Given the description of an element on the screen output the (x, y) to click on. 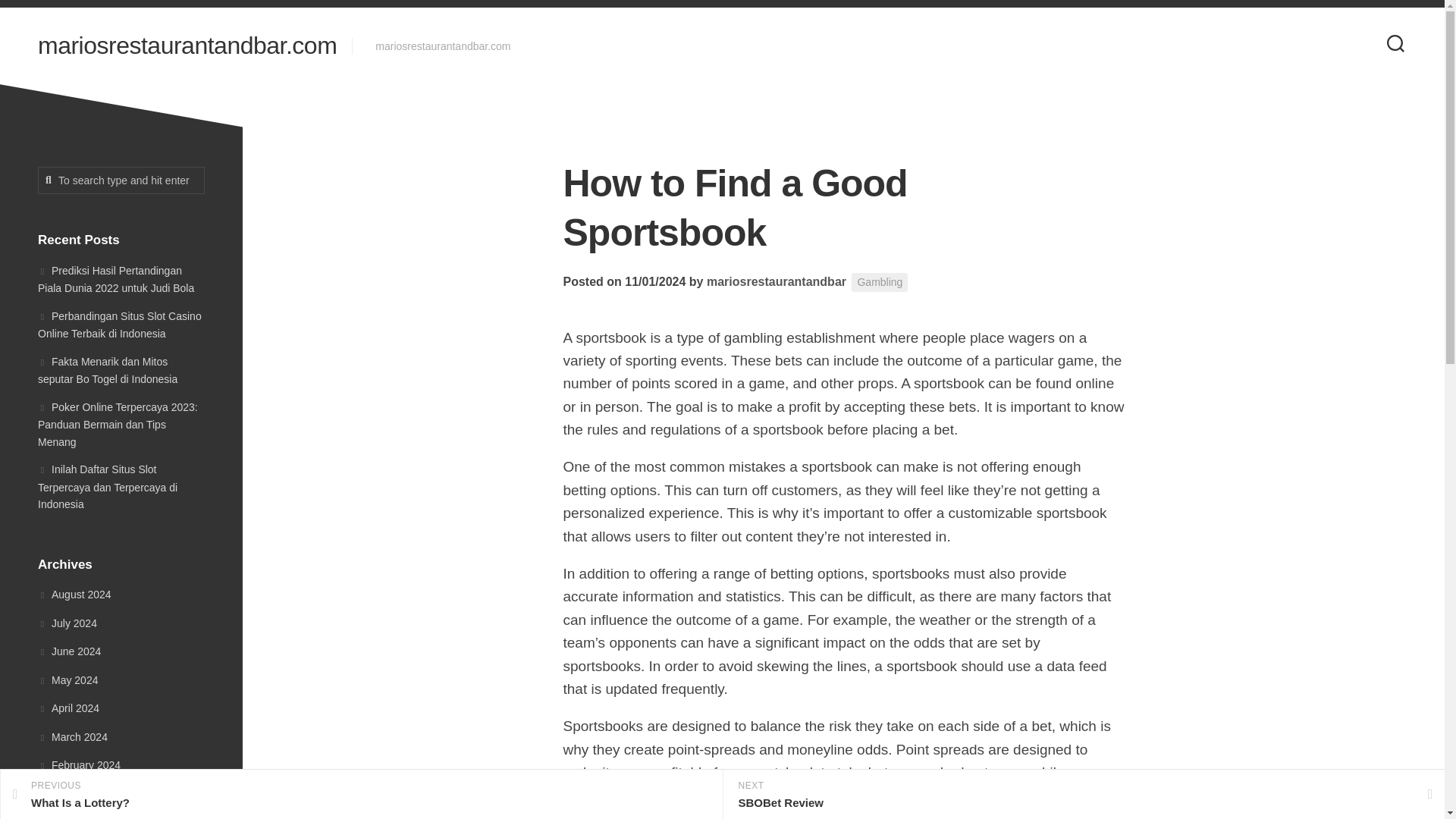
Posts by mariosrestaurantandbar (775, 281)
Fakta Menarik dan Mitos seputar Bo Togel di Indonesia (107, 369)
mariosrestaurantandbar (361, 794)
To search type and hit enter (775, 281)
Perbandingan Situs Slot Casino Online Terbaik di Indonesia (121, 180)
To search type and hit enter (119, 324)
April 2024 (121, 180)
March 2024 (68, 707)
May 2024 (72, 736)
